Given the description of an element on the screen output the (x, y) to click on. 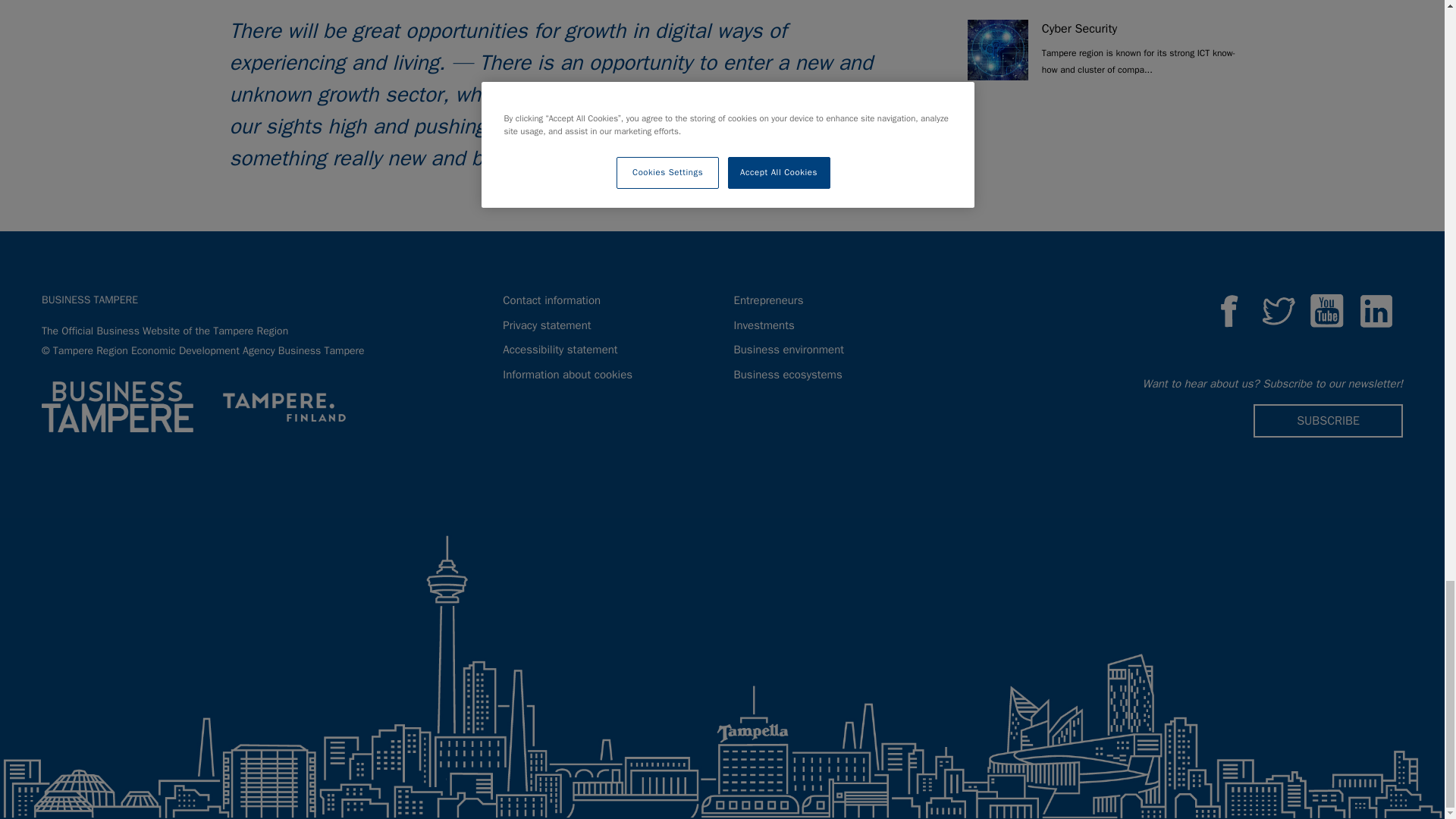
Innovaatioseteli Business Tampere White XL (117, 406)
Tampere Finland logo white (283, 406)
